Given the description of an element on the screen output the (x, y) to click on. 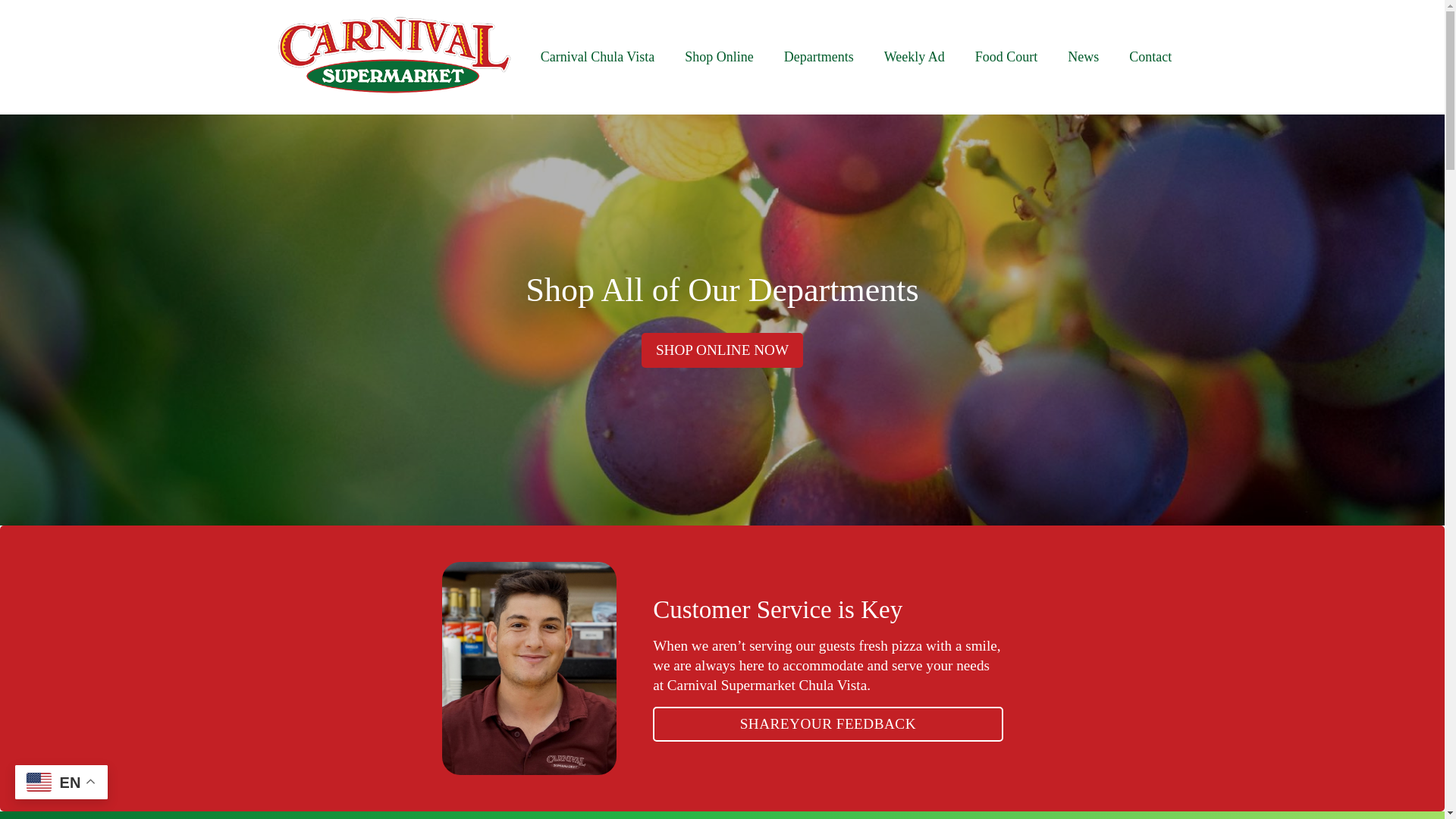
Food Court (1006, 56)
Departments (818, 56)
Carnival Chula Vista (597, 56)
Shop Online (719, 56)
SHOP ONLINE NOW (722, 349)
Contact (1150, 56)
Weekly Ad (913, 56)
SHAREYOUR FEEDBACK (827, 724)
News (1083, 56)
